Given the description of an element on the screen output the (x, y) to click on. 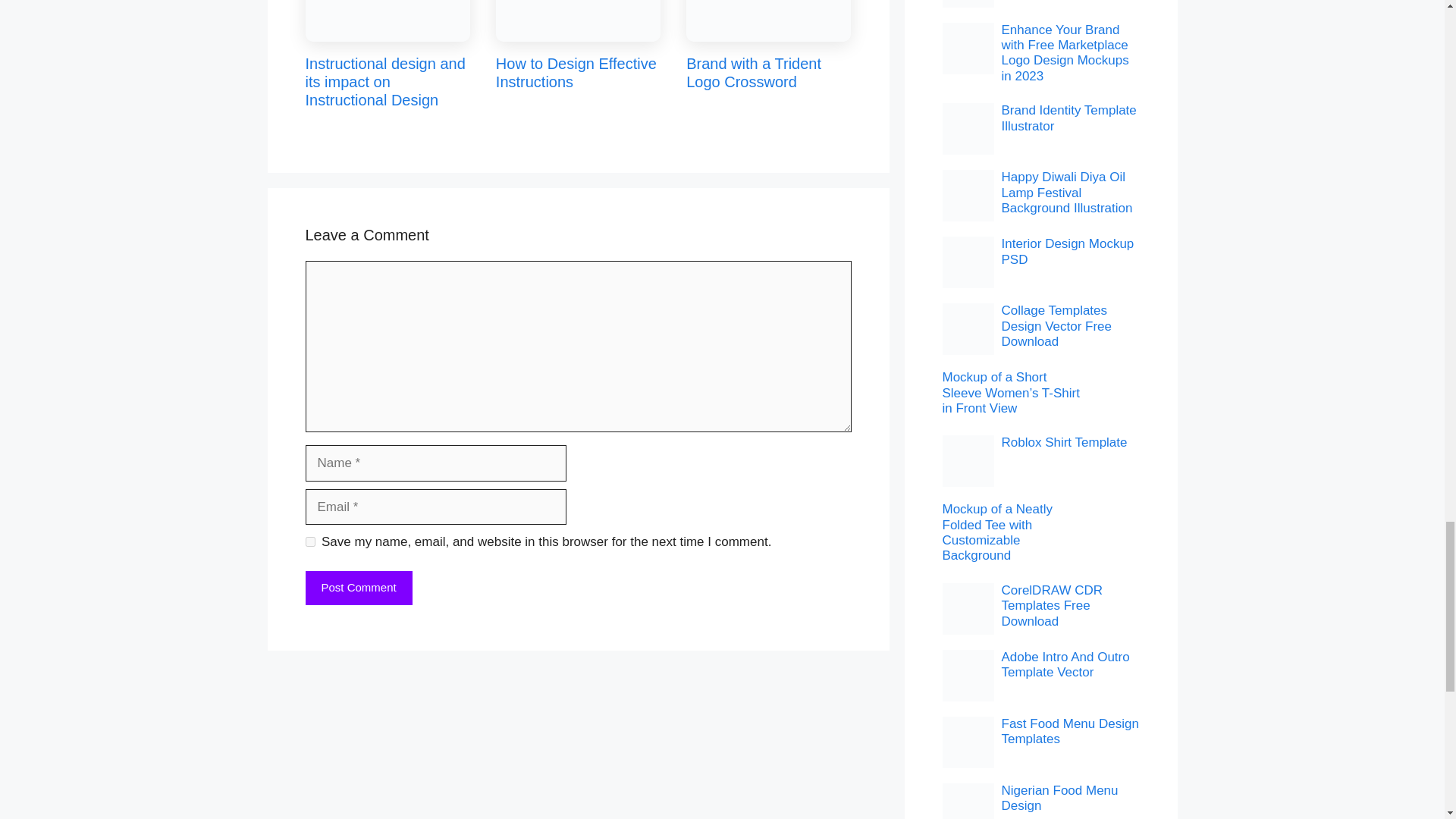
Post Comment (358, 587)
yes (309, 542)
